Given the description of an element on the screen output the (x, y) to click on. 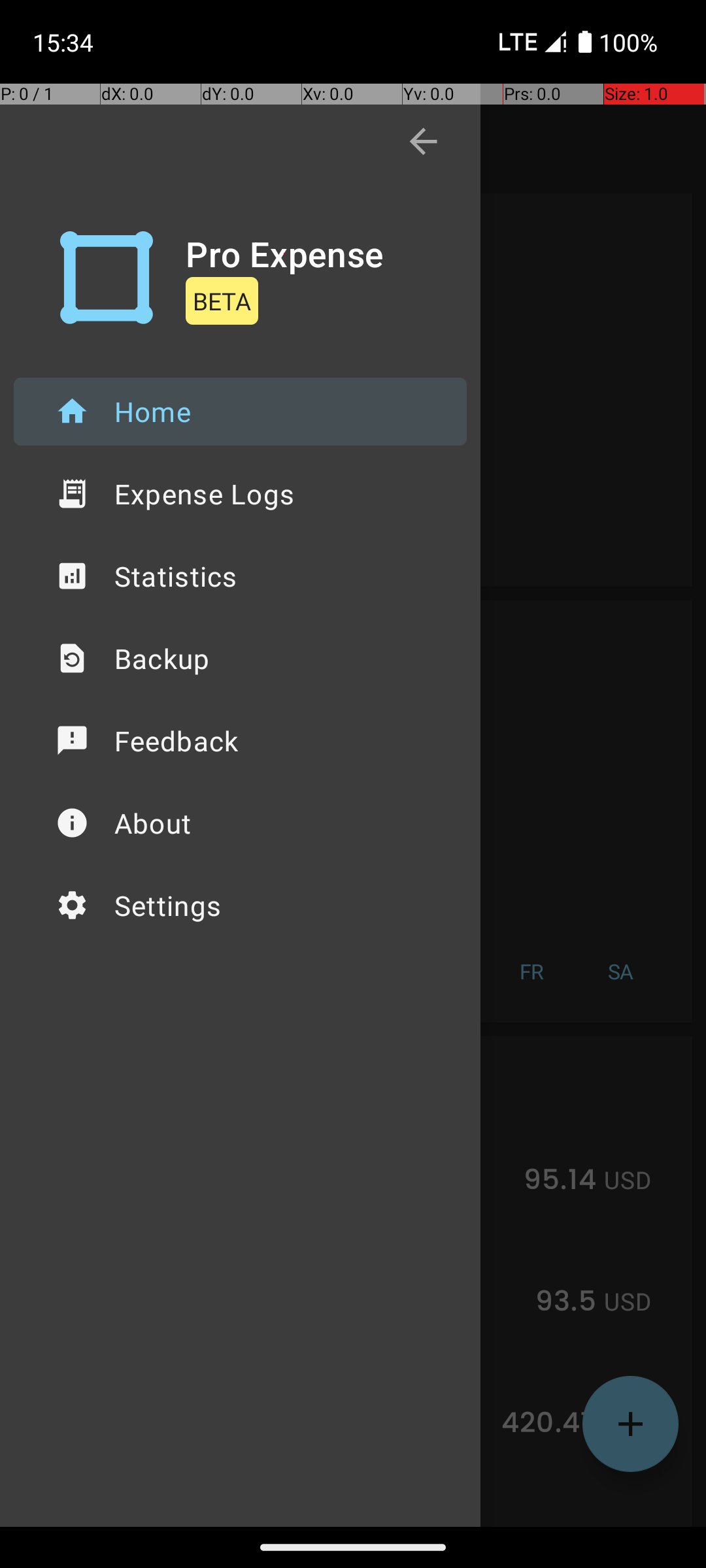
BETA Element type: android.widget.TextView (221, 300)
Statistics Element type: android.widget.CheckedTextView (239, 576)
Backup Element type: android.widget.CheckedTextView (239, 658)
